Given the description of an element on the screen output the (x, y) to click on. 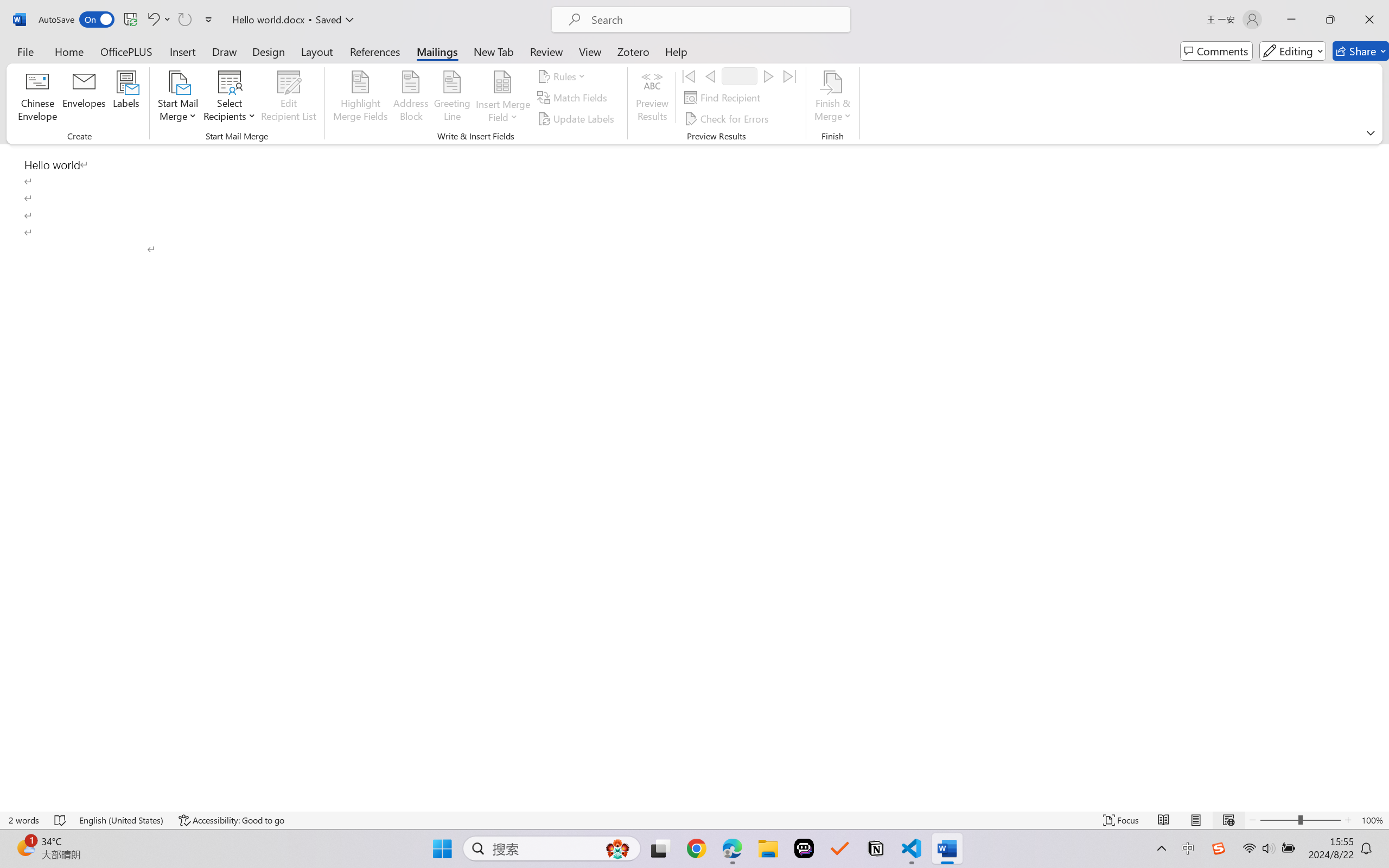
Class: Image (1218, 847)
Insert Merge Field (502, 97)
References (375, 51)
Check for Errors... (728, 118)
Next (768, 75)
Language English (United States) (121, 819)
Editing (1292, 50)
Undo Click and Type Formatting (152, 19)
Zoom (1300, 819)
Draw (224, 51)
Read Mode (1163, 819)
Quick Access Toolbar (127, 19)
Start Mail Merge (177, 97)
Web Layout (1228, 819)
Labels... (126, 97)
